Given the description of an element on the screen output the (x, y) to click on. 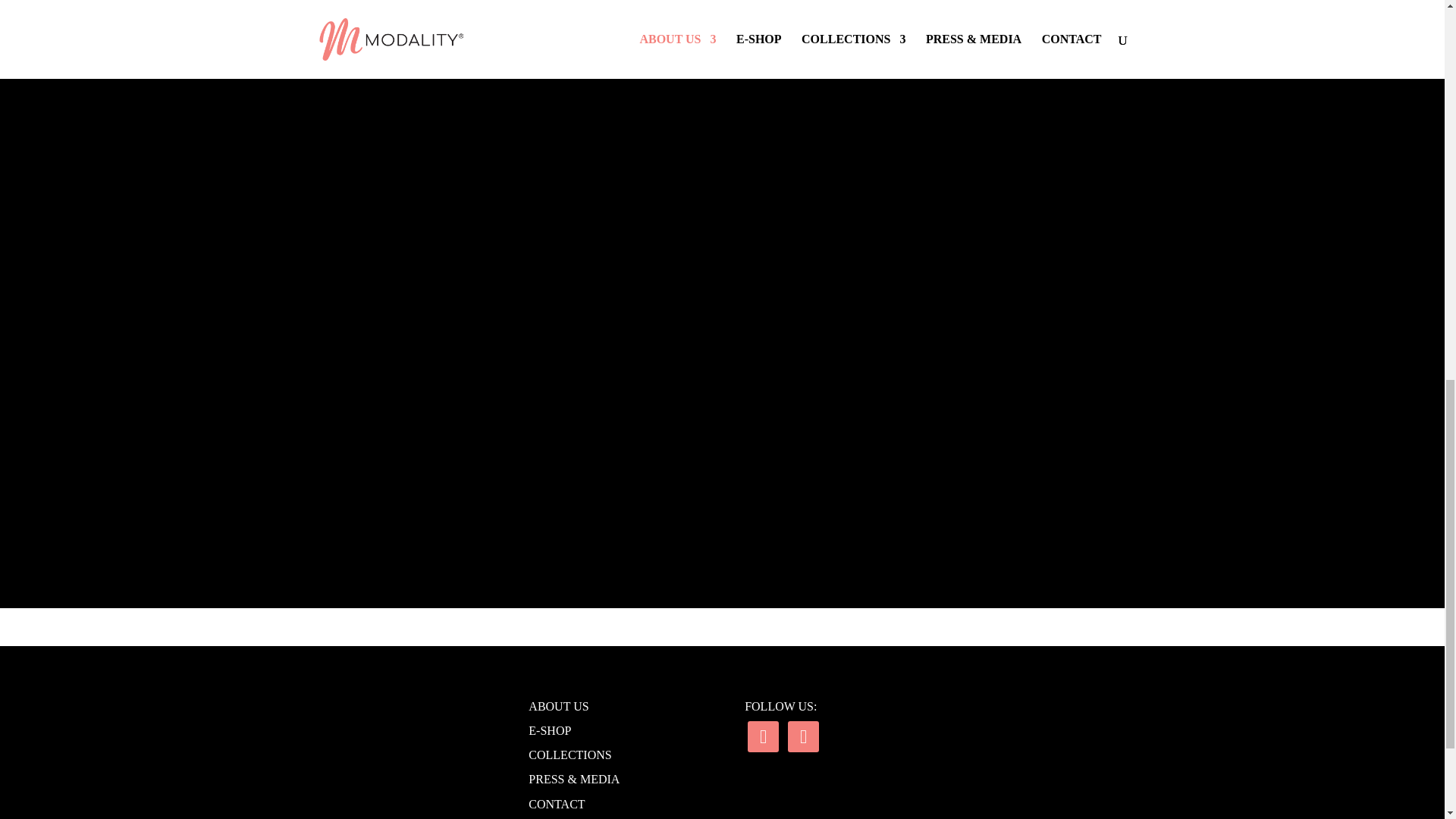
Instagram (763, 735)
CONTACT (556, 803)
linkedin (802, 735)
instagram (763, 735)
ABOUT US (558, 706)
E-SHOP (549, 730)
COLLECTIONS (569, 754)
